Given the description of an element on the screen output the (x, y) to click on. 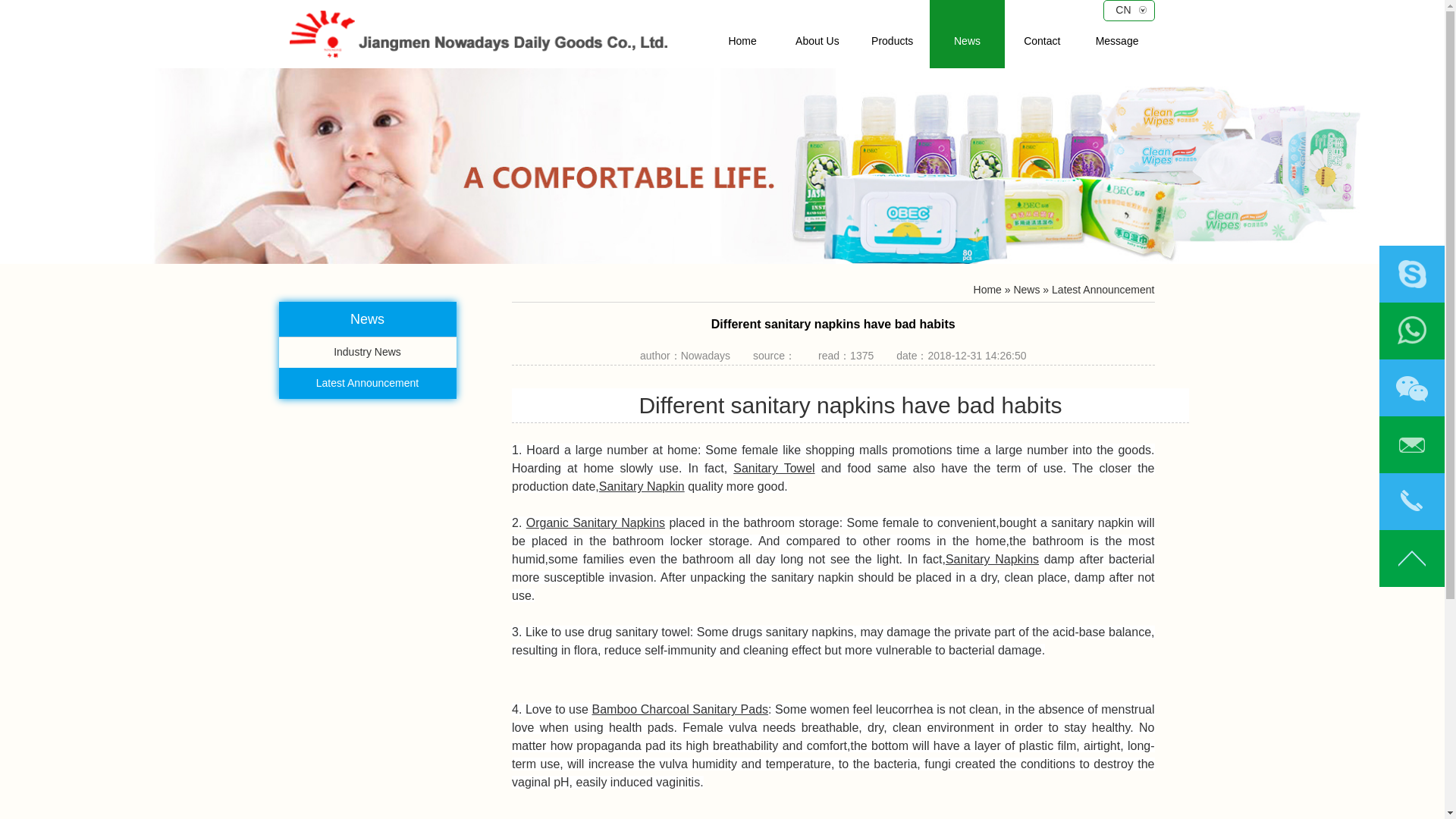
News (1026, 289)
News (967, 33)
Latest Announcement (368, 383)
Contact (1042, 33)
CN (1128, 9)
Latest Announcement (368, 383)
Message (1117, 33)
Home (987, 289)
About Us (816, 33)
Message (1117, 33)
Products (892, 33)
Products (892, 33)
Home (742, 33)
Latest Announcement (1102, 289)
Home (742, 33)
